Given the description of an element on the screen output the (x, y) to click on. 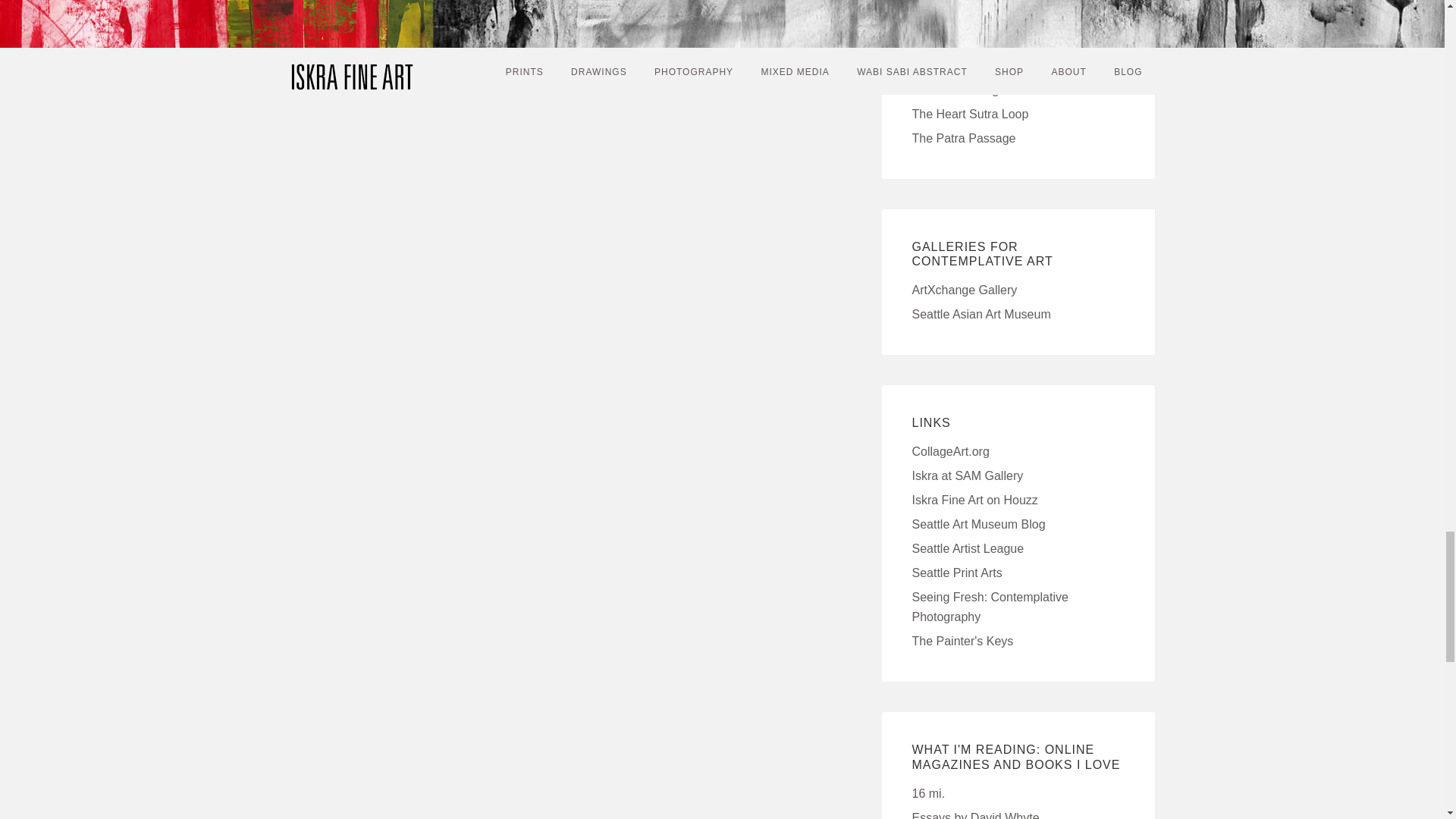
Seattle Art Museum Gallery  (967, 475)
A Wabi Sabi Dream: Boro Textiles (965, 65)
